Given the description of an element on the screen output the (x, y) to click on. 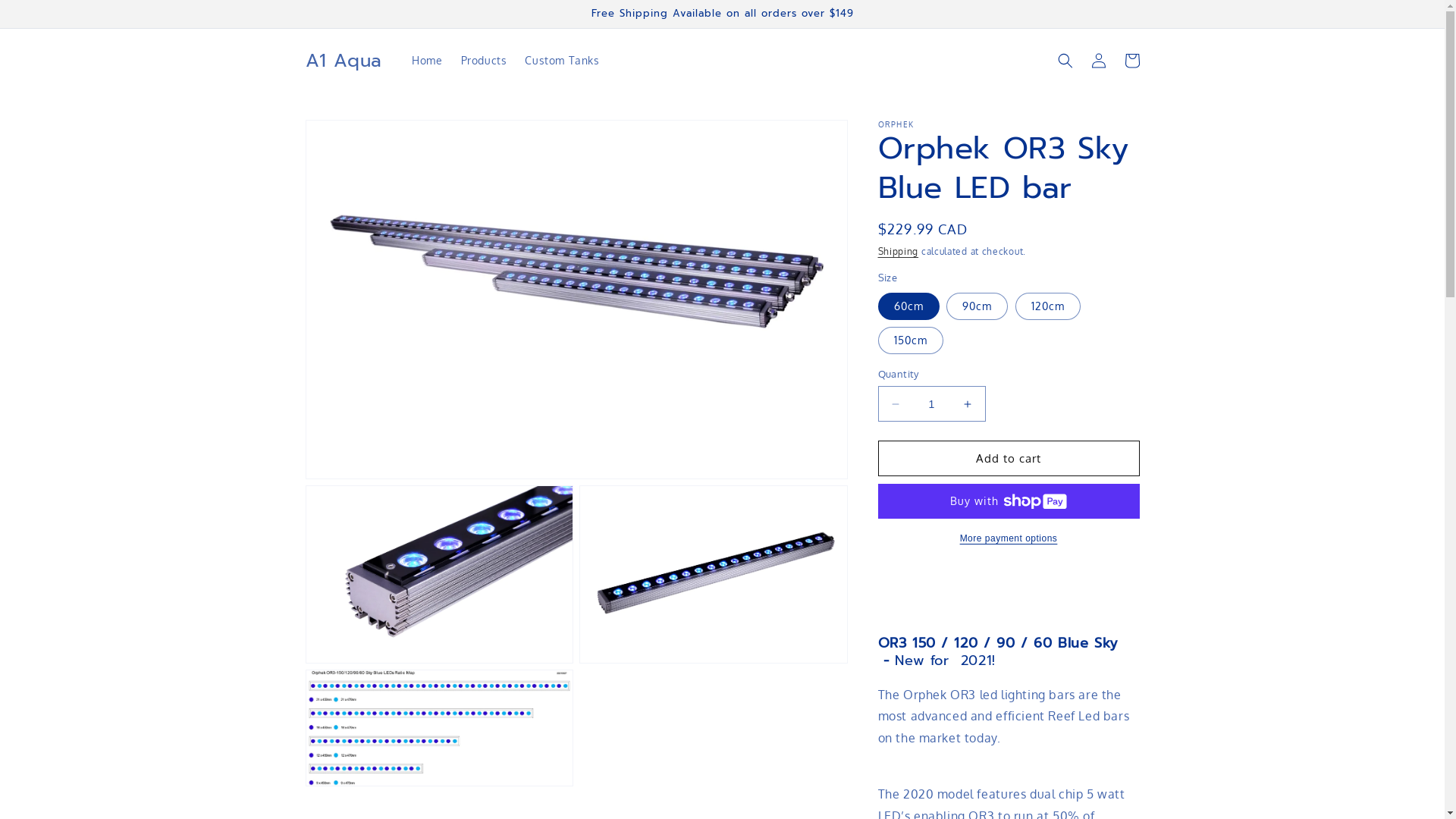
A1 Aqua Element type: text (343, 60)
Products Element type: text (483, 60)
Add to cart Element type: text (1008, 458)
Shipping Element type: text (898, 251)
More payment options Element type: text (1008, 538)
Increase quantity for Orphek OR3 Sky Blue LED bar Element type: text (967, 403)
Cart Element type: text (1131, 60)
Decrease quantity for Orphek OR3 Sky Blue LED bar Element type: text (895, 403)
Log in Element type: text (1097, 60)
Custom Tanks Element type: text (561, 60)
Skip to product information Element type: text (350, 136)
Home Element type: text (426, 60)
